Given the description of an element on the screen output the (x, y) to click on. 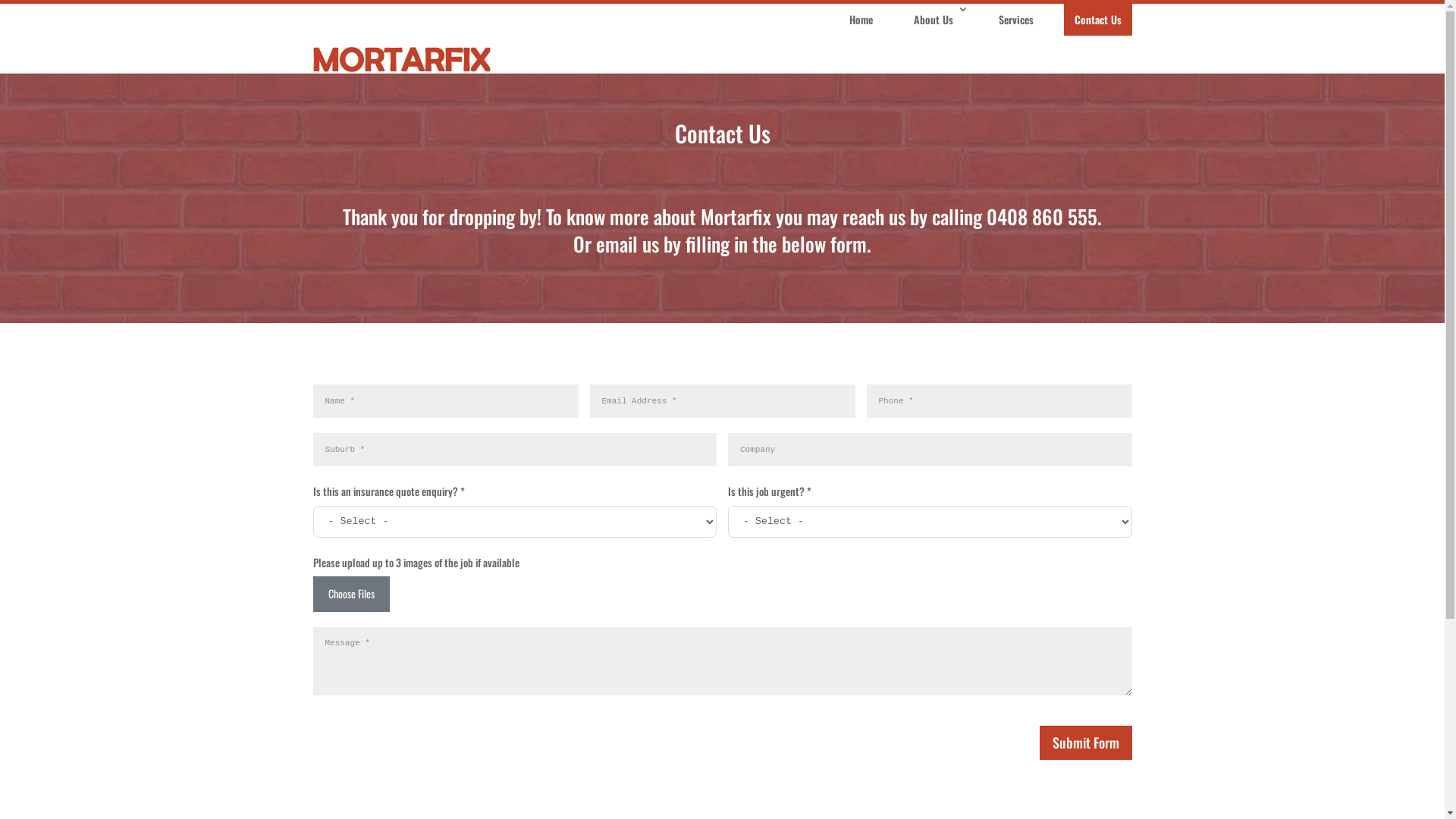
Contact Us Element type: text (1097, 19)
About Us Element type: text (934, 19)
Submit Form Element type: text (1084, 742)
Home Element type: text (860, 19)
Services Element type: text (1015, 19)
